Given the description of an element on the screen output the (x, y) to click on. 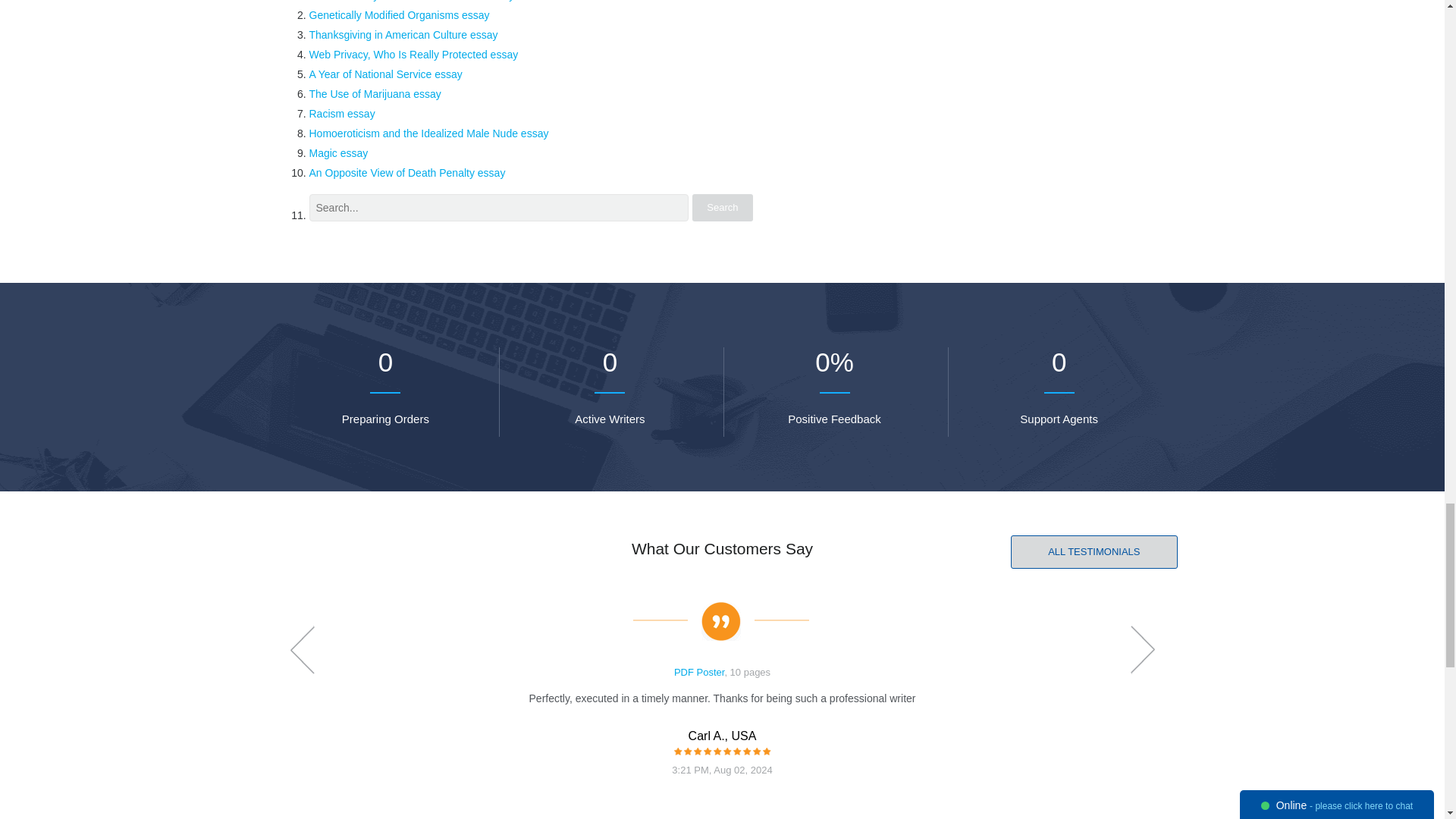
A Year of National Service essay (385, 73)
Genetically Modified Organisms essay (398, 15)
The Use of Marijuana essay (374, 93)
Thanksgiving in American Culture essay (402, 34)
Web Privacy, Who Is Really Protected essay (413, 54)
Search (722, 207)
